Given the description of an element on the screen output the (x, y) to click on. 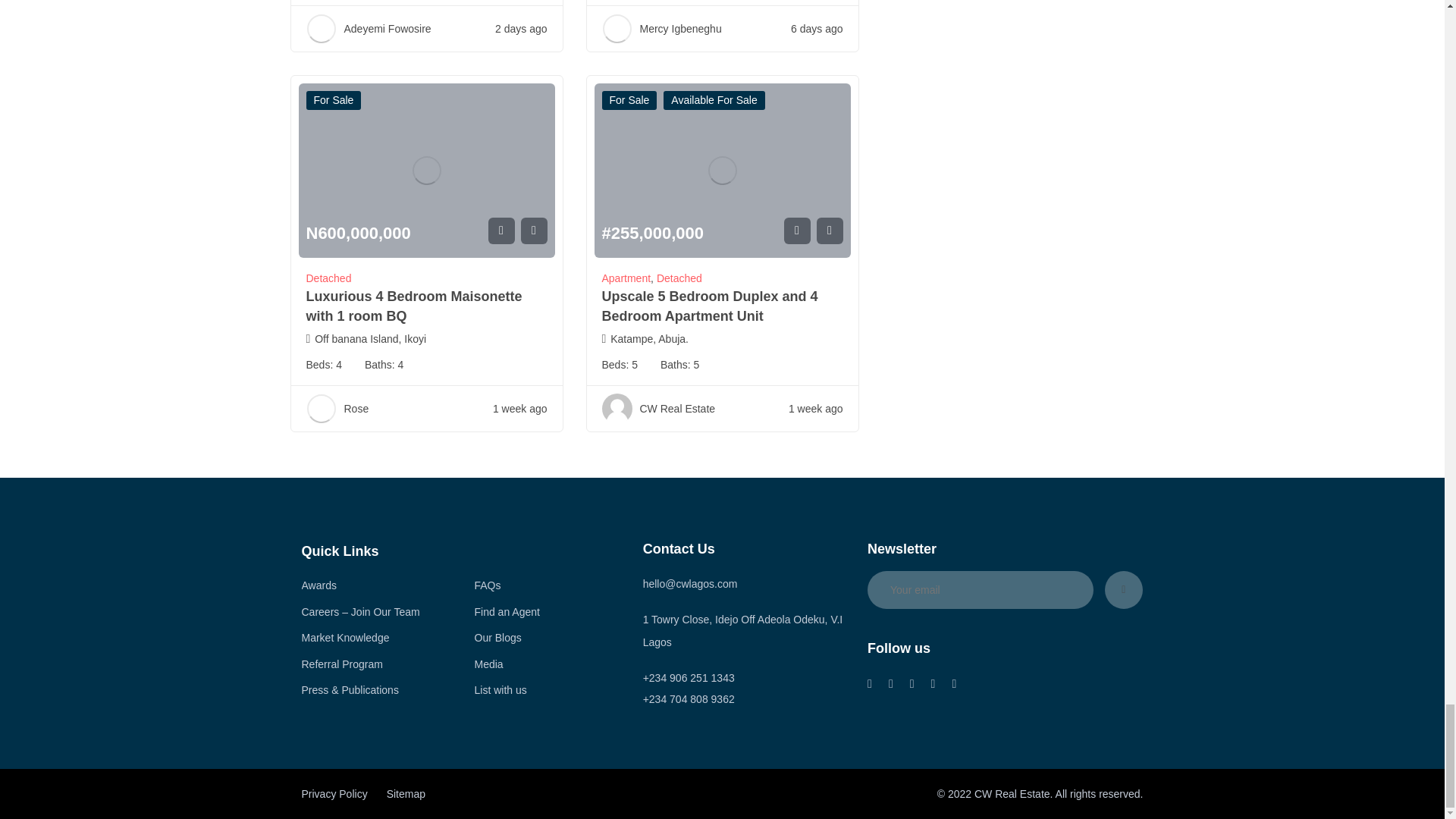
Add Compare (533, 230)
Add Favorite (797, 230)
Add Favorite (501, 230)
